Given the description of an element on the screen output the (x, y) to click on. 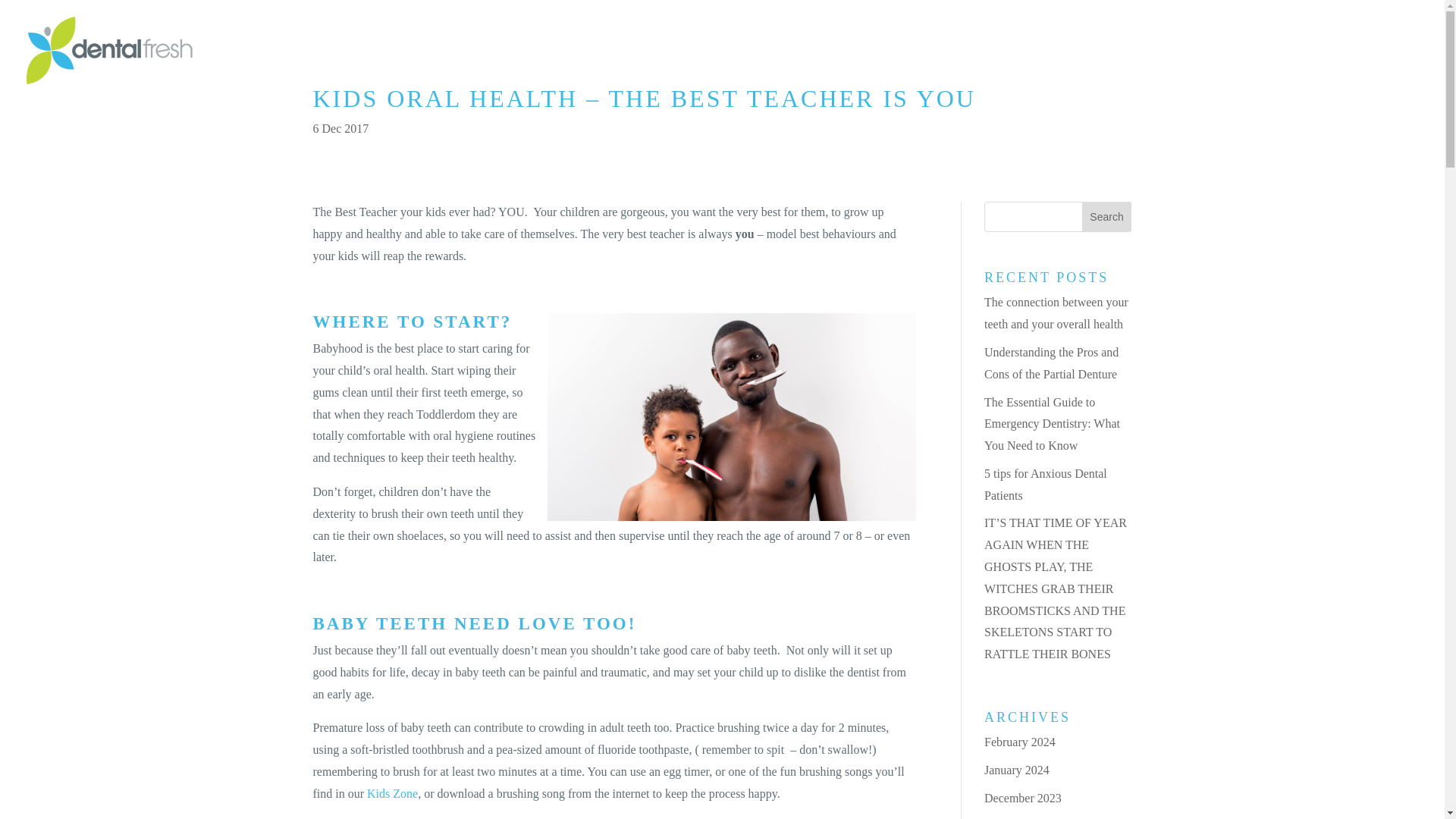
CONTACT (1224, 76)
ABOUT US (1144, 76)
Search (1106, 216)
COSMETIC DENTISTRY (945, 76)
02 9389 3656 (1346, 52)
GENERAL DENTAL (801, 76)
DENTURES (1061, 76)
Kids Zone (391, 793)
